Given the description of an element on the screen output the (x, y) to click on. 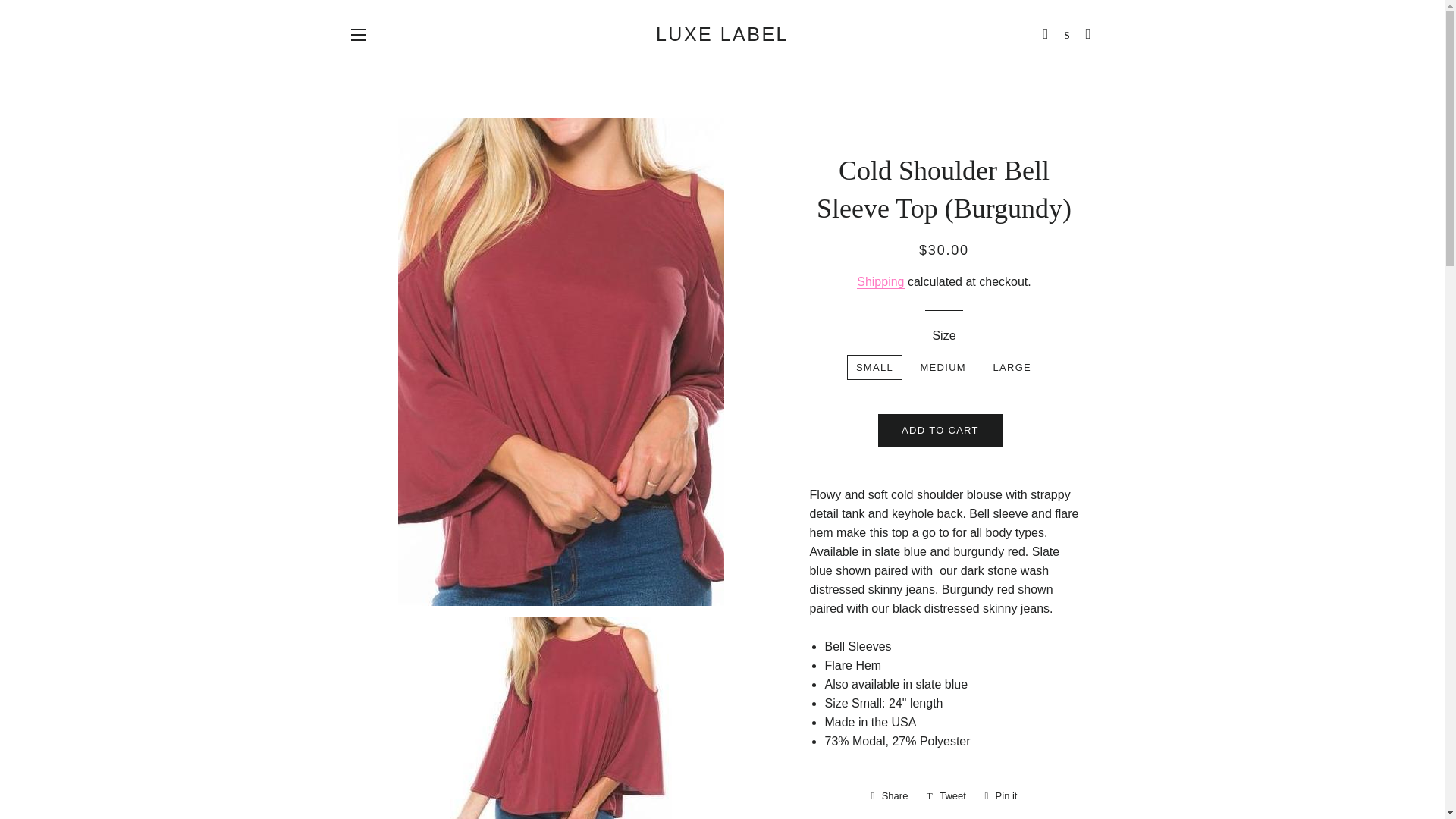
Pin on Pinterest (1000, 795)
Share on Facebook (889, 795)
Tweet on Twitter (946, 795)
